Given the description of an element on the screen output the (x, y) to click on. 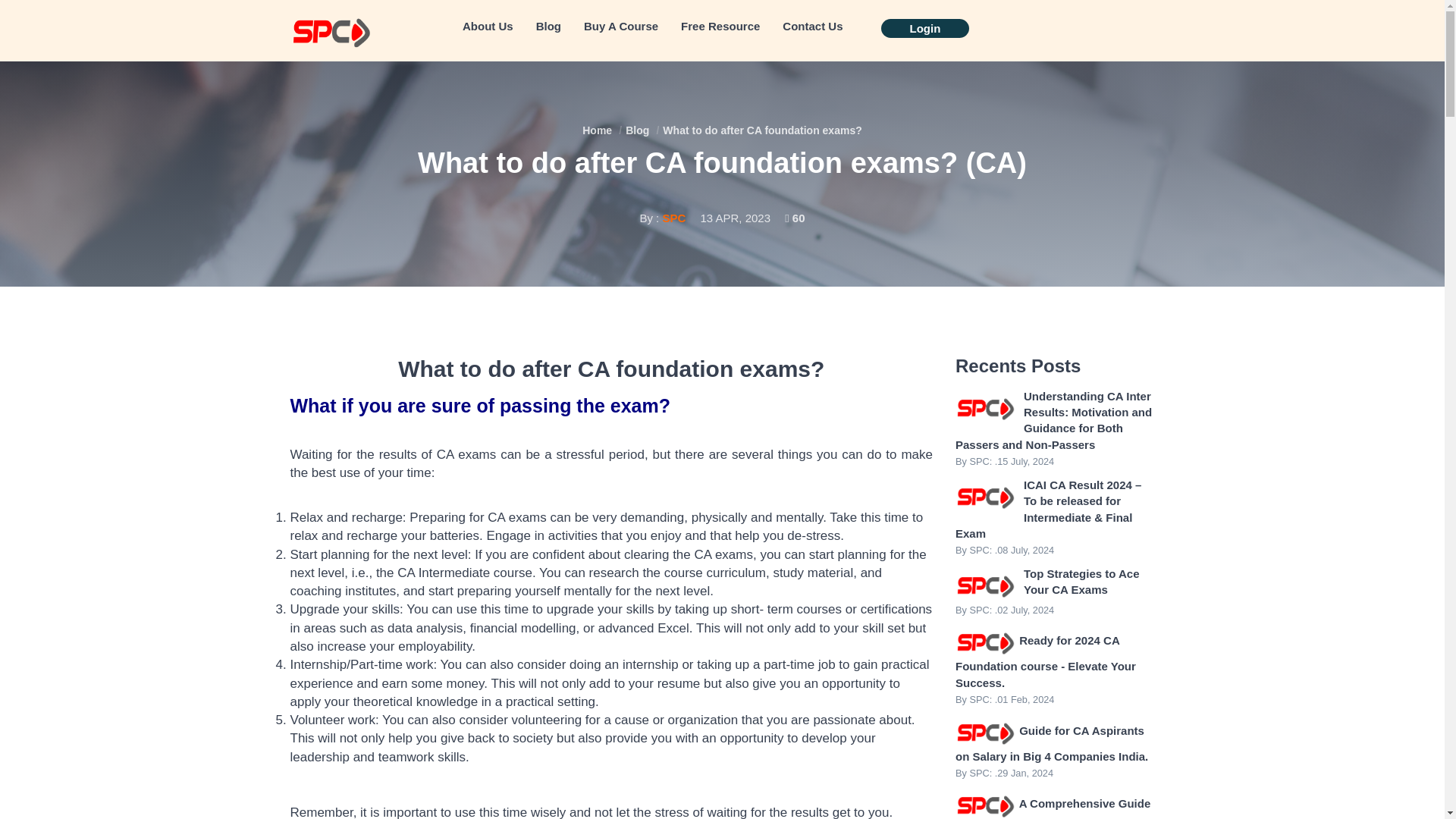
Top Strategies to Ace Your CA Exams (1081, 581)
Login (924, 27)
Home (596, 130)
60 (794, 217)
Guide for CA Aspirants on Salary in Big 4 Companies India. (1051, 742)
Blog (548, 26)
Blog (637, 130)
Contact Us (812, 26)
Buy A Course (620, 26)
Ready for 2024 CA Foundation course - Elevate Your Success. (1045, 660)
SPC (673, 217)
Free Resource (720, 26)
About Us (487, 26)
